Given the description of an element on the screen output the (x, y) to click on. 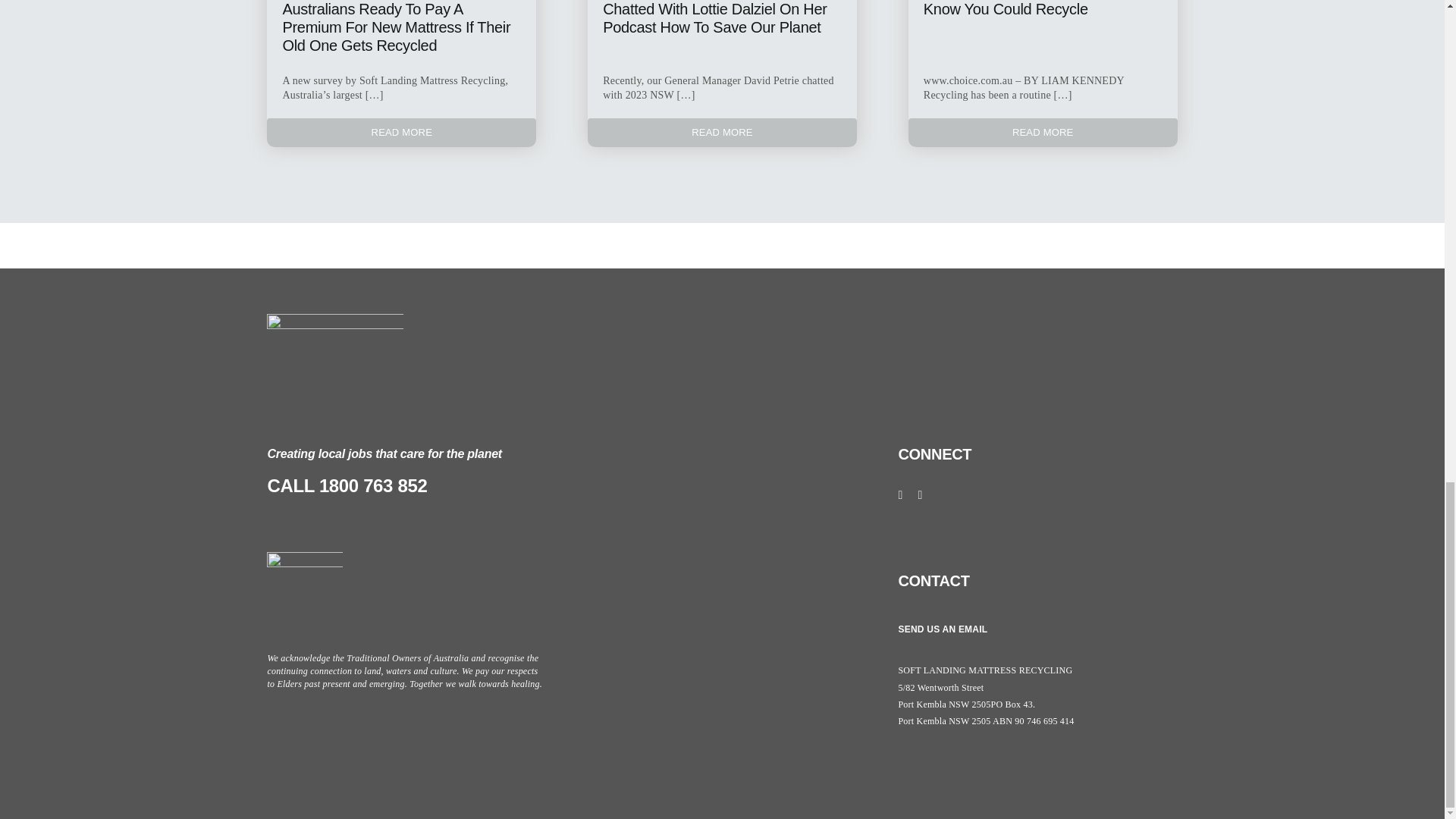
charity (304, 590)
READ MORE (400, 132)
READ MORE (722, 132)
READ MORE (1042, 132)
